Given the description of an element on the screen output the (x, y) to click on. 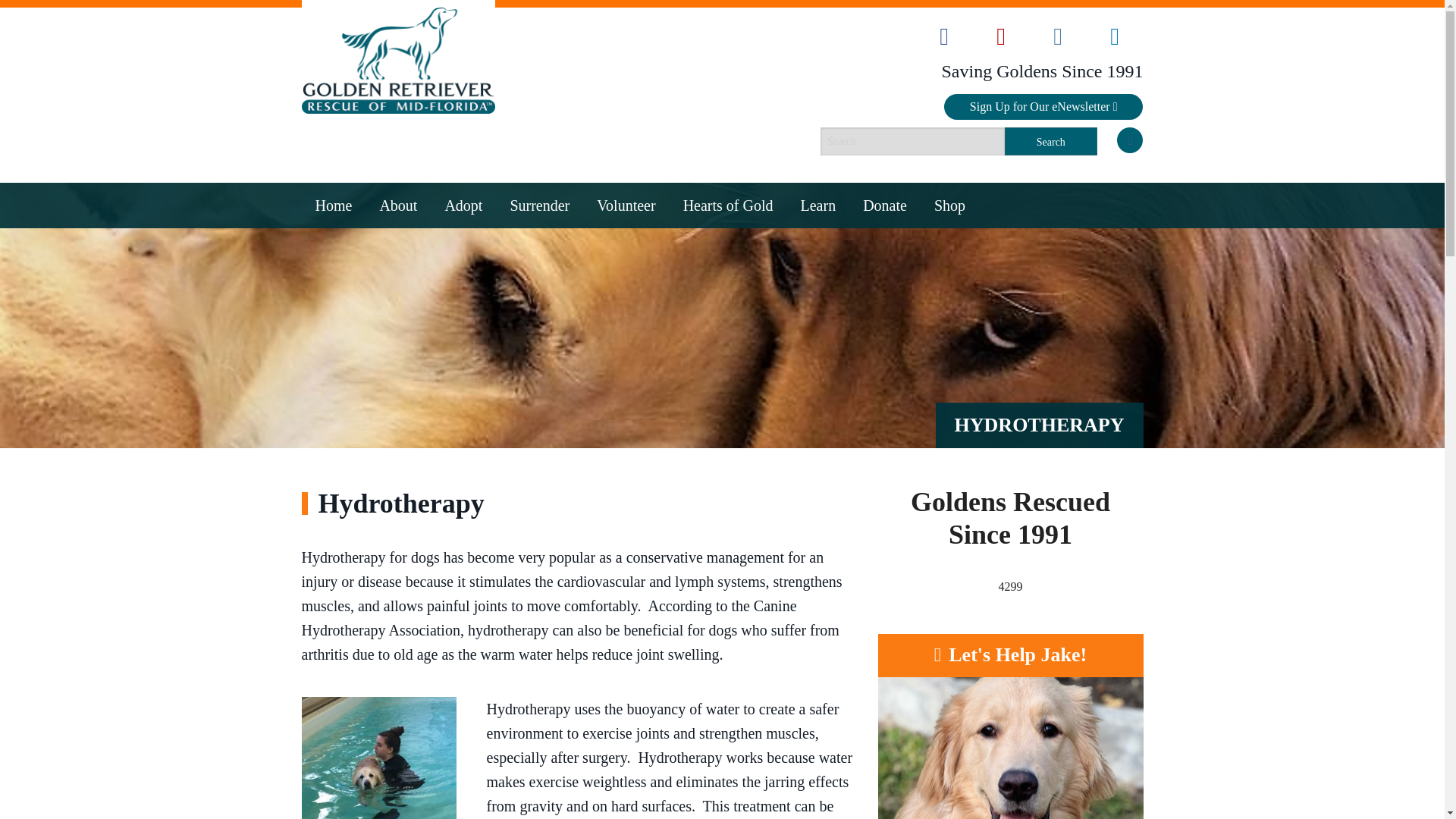
GRRMF Our History (397, 243)
Message from Our Founder (397, 304)
Sanctuary Dogs (463, 364)
News (397, 364)
How To Adopt (463, 304)
Sign Up for Our eNewsletter (1042, 106)
Why Adopt A Rescue (463, 334)
Our GRRMF Village (625, 273)
Hearts of Gold Latest News (728, 304)
Events (397, 334)
Healing Hearts (463, 273)
Home (333, 205)
Volunteer (625, 205)
Search (1050, 141)
Available Goldens (463, 243)
